Given the description of an element on the screen output the (x, y) to click on. 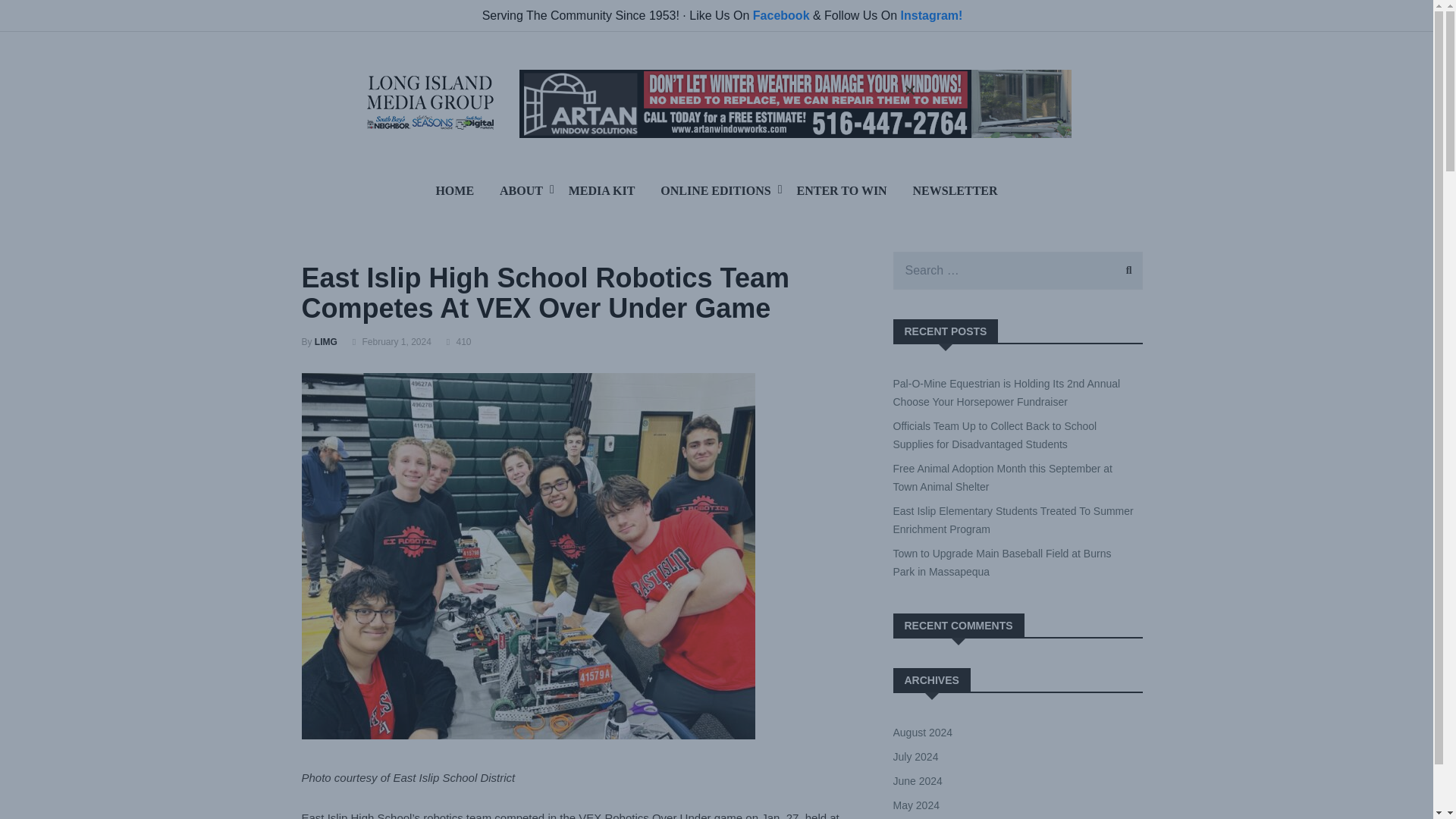
Instagram! (931, 15)
HOME (453, 190)
ONLINE EDITIONS (715, 190)
LIMG (325, 341)
MEDIA KIT (601, 190)
Facebook (780, 15)
NEWSLETTER (955, 190)
ABOUT (520, 190)
ENTER TO WIN (842, 190)
